Given the description of an element on the screen output the (x, y) to click on. 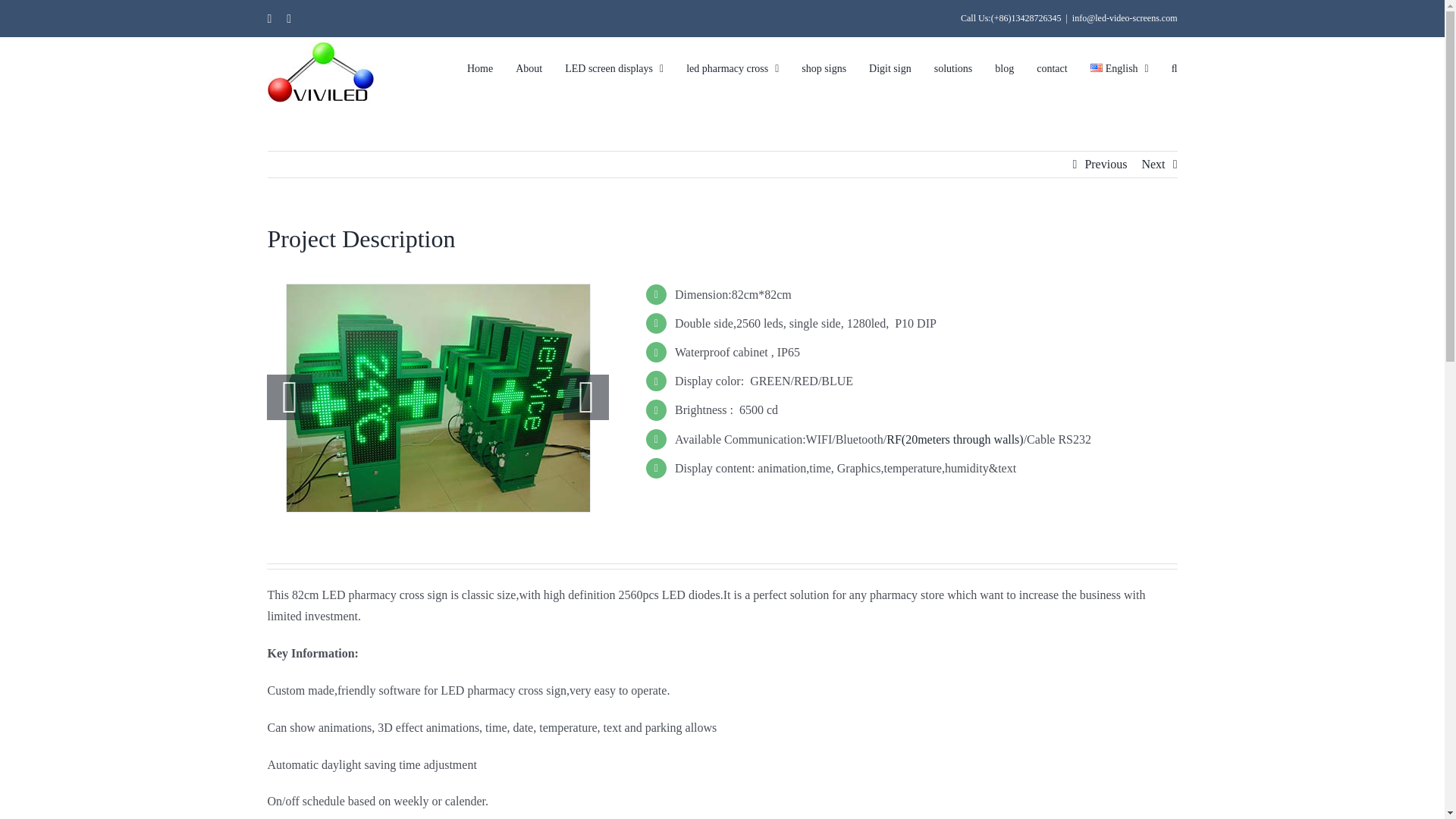
led pharmacy cross (731, 68)
English (1119, 68)
LED screen displays (613, 68)
